Given the description of an element on the screen output the (x, y) to click on. 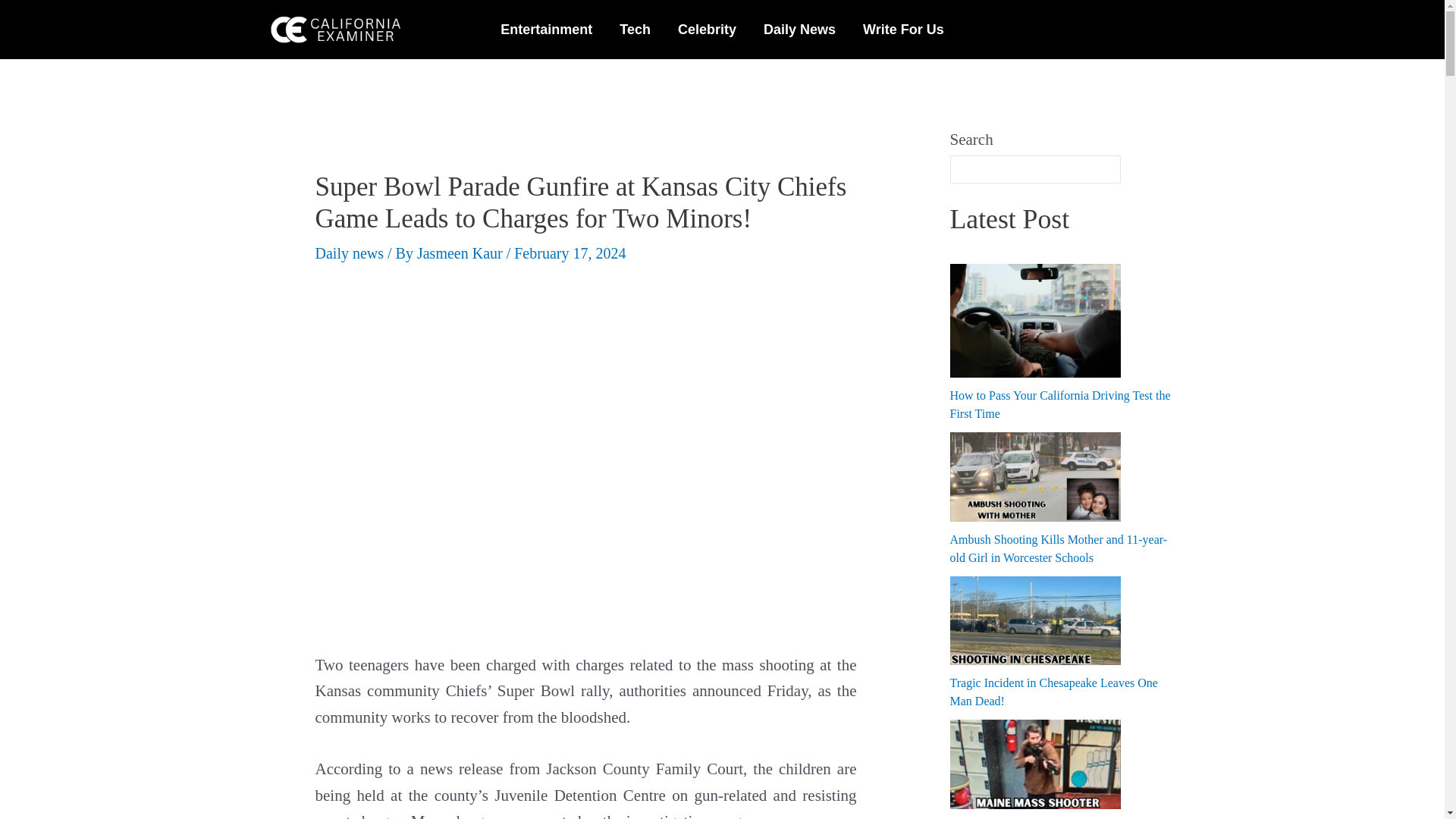
Daily news (349, 252)
Write For Us (903, 29)
Entertainment (545, 29)
Tech (634, 29)
Daily News (798, 29)
Jasmeen Kaur (461, 252)
View all posts by Jasmeen Kaur (461, 252)
Celebrity (706, 29)
